Given the description of an element on the screen output the (x, y) to click on. 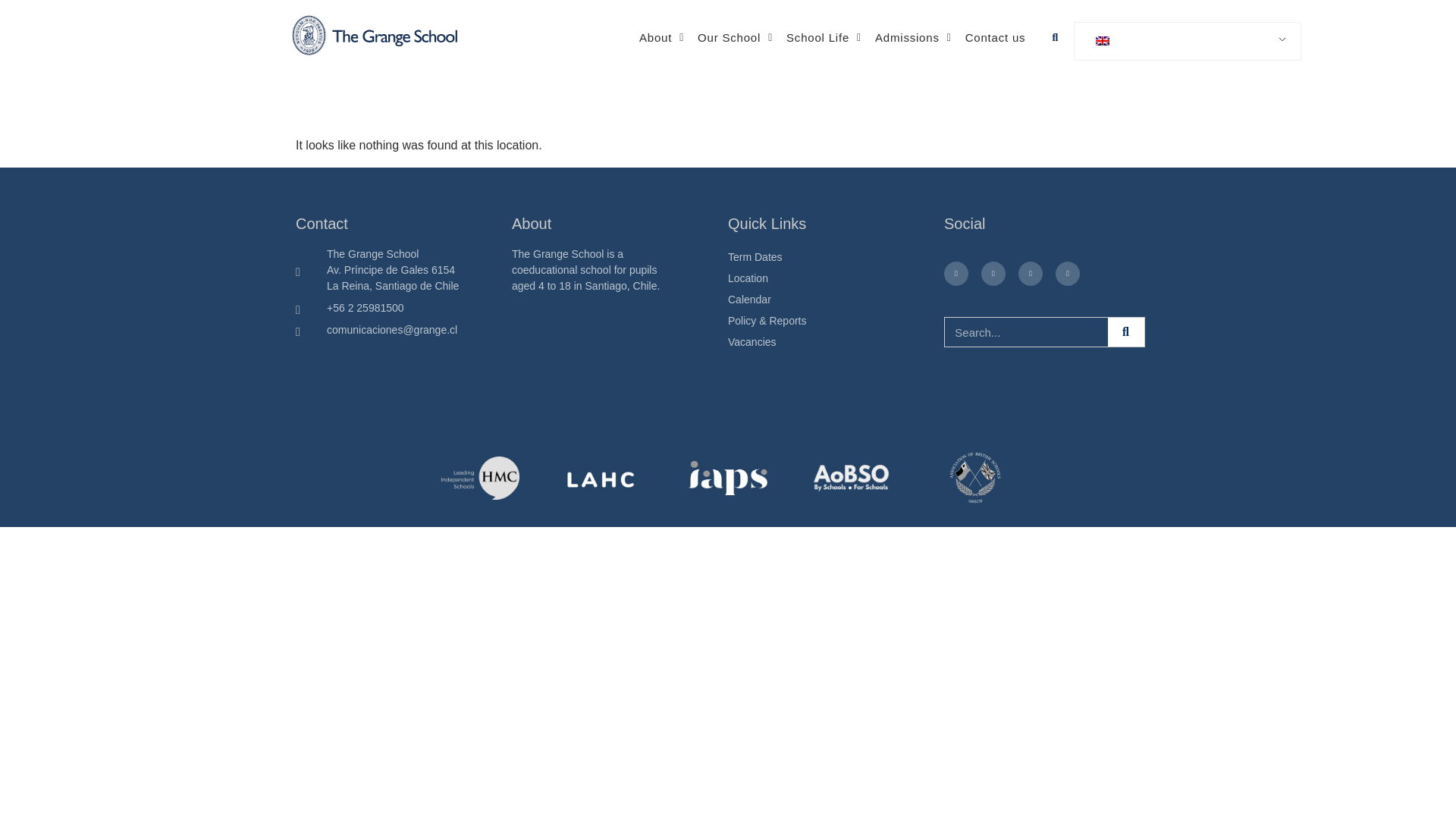
English (1184, 41)
Contact us (995, 1)
School Life (822, 1)
English (1102, 40)
Admissions (912, 1)
About (660, 1)
Our School (734, 1)
